Given the description of an element on the screen output the (x, y) to click on. 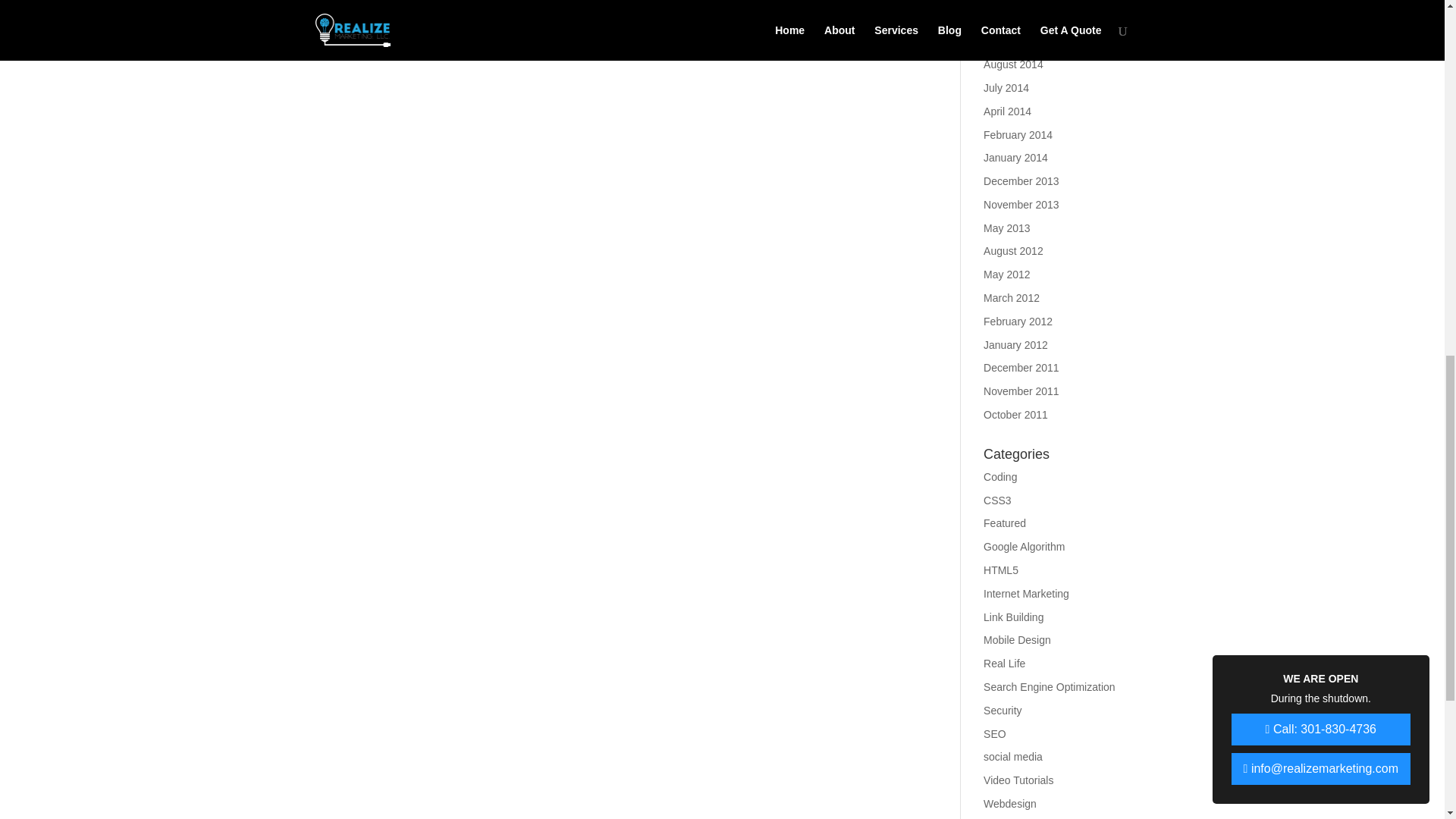
August 2015 (1013, 18)
January 2016 (1016, 0)
August 2014 (1013, 64)
September 2014 (1023, 40)
